Given the description of an element on the screen output the (x, y) to click on. 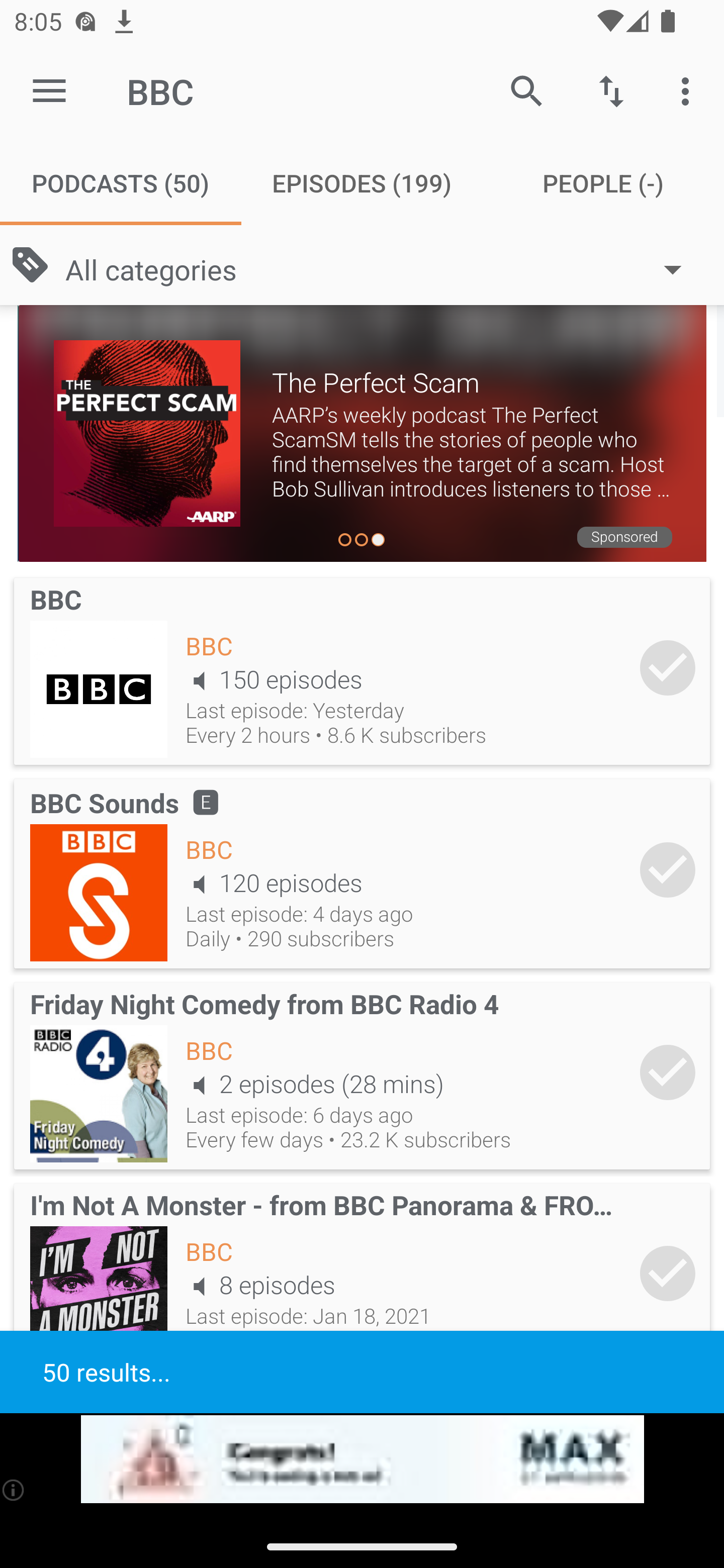
Open navigation sidebar (49, 91)
Search (526, 90)
Sort (611, 90)
More options (688, 90)
Episodes (199) EPISODES (199) (361, 183)
People (-) PEOPLE (-) (603, 183)
All categories (383, 268)
Add (667, 667)
Add (667, 869)
Add (667, 1072)
Add (667, 1272)
app-monetization (362, 1459)
(i) (14, 1489)
